Given the description of an element on the screen output the (x, y) to click on. 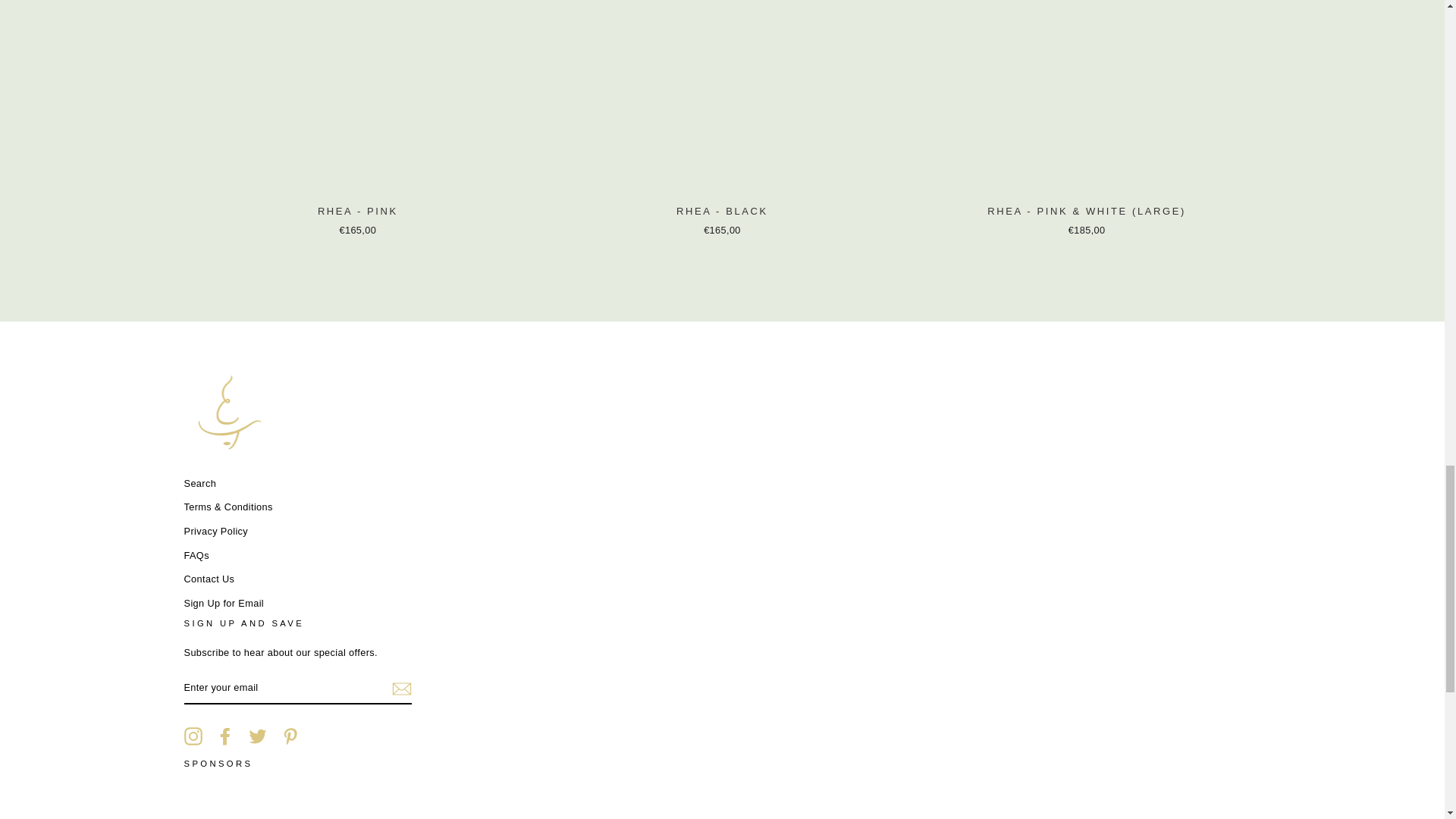
Emily Jean Atelier on Instagram (192, 736)
Emily Jean Atelier on Facebook (224, 736)
Emily Jean Atelier on Twitter (257, 736)
Emily Jean Atelier on Pinterest (290, 736)
